Given the description of an element on the screen output the (x, y) to click on. 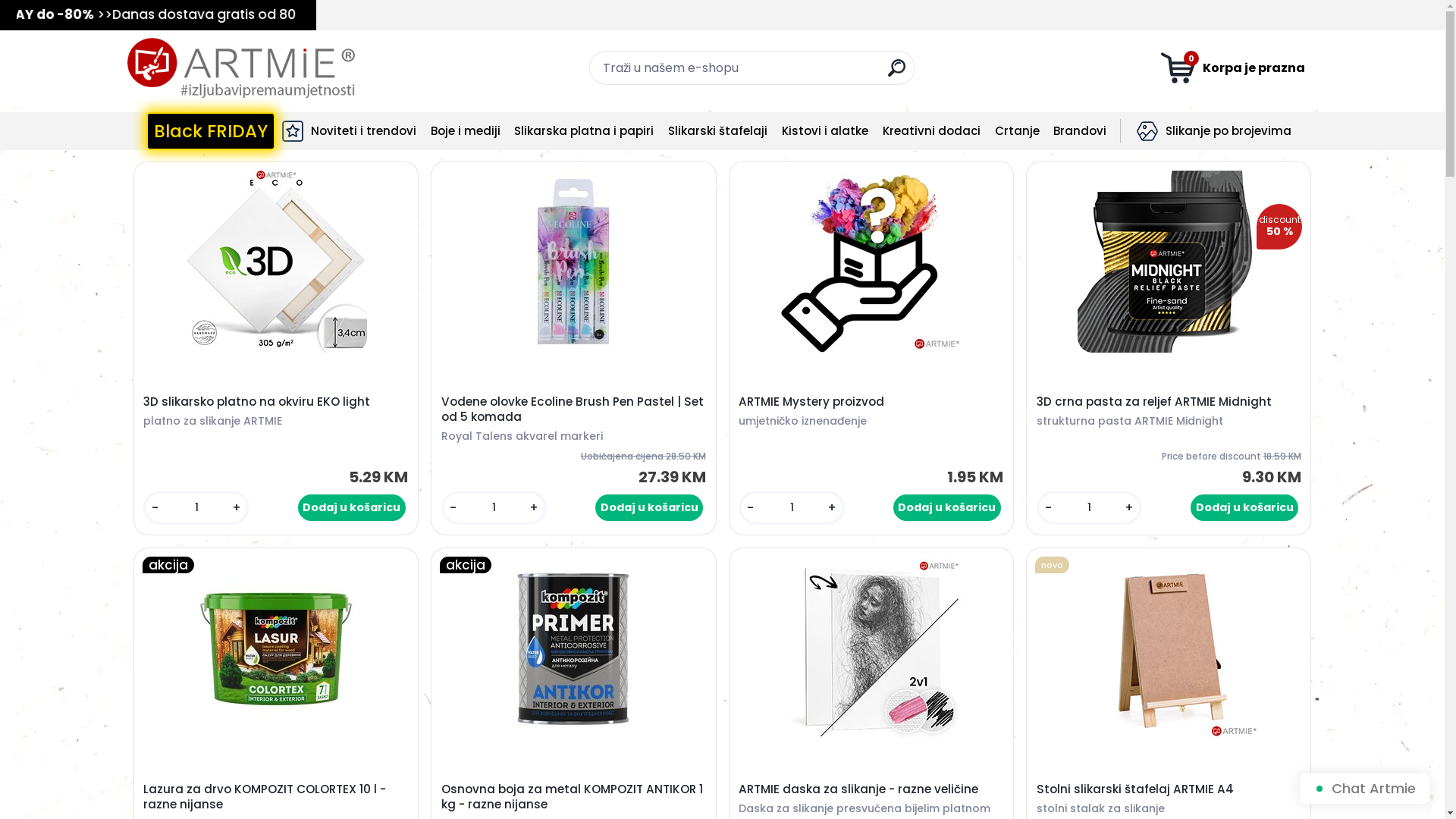
Kistovi i alatke Element type: text (825, 131)
Black FRIDAY Element type: text (209, 131)
New registration Element type: text (1382, 37)
Danas dostava gratis od 80 KM Element type: text (151, 14)
Slikarska platna i papiri Element type: text (584, 131)
Crtanje Element type: text (1016, 131)
Crtanje Element type: text (1016, 131)
Osnovna boja za metal KOMPOZIT ANTIKOR 1 kg - razne nijanse Element type: text (573, 796)
Lazura za drvo KOMPOZIT COLORTEX 10 l - razne nijanse Element type: hover (276, 649)
- Element type: text (749, 507)
Kistovi i alatke Element type: text (824, 131)
Kreativni dodaci Element type: text (931, 131)
Slikanje po brojevima Element type: text (1228, 131)
Boje i mediji Element type: text (465, 131)
+ Element type: text (1128, 507)
Kreativni dodaci Element type: text (931, 131)
Vodene olovke Ecoline Brush Pen Pastel | Set od 5 komada Element type: text (573, 409)
Noviteti i trendovi Element type: text (363, 131)
Lazura za drvo KOMPOZIT COLORTEX 10 l - razne nijanse Element type: text (275, 796)
Slikarska platna i papiri Element type: text (583, 131)
Brandovi Element type: text (1079, 131)
+ Element type: text (831, 507)
Slikanje po brojevima Element type: text (1214, 131)
3D crna pasta za reljef ARTMIE Midnight Element type: hover (1168, 261)
ARTMIE Mystery proizvod Element type: hover (871, 261)
0
Tvoja korpa
je prazna Element type: text (1233, 67)
+ Element type: text (236, 507)
Noviteti i trendovi Element type: text (348, 131)
Login Element type: text (1298, 37)
Boje i mediji Element type: text (465, 131)
3D crna pasta za reljef ARTMIE Midnight Element type: text (1168, 401)
3D slikarsko platno na okviru EKO light Element type: hover (276, 261)
3D slikarsko platno na okviru EKO light Element type: text (275, 401)
- Element type: text (1047, 507)
+ Element type: text (533, 507)
Osnovna boja za metal KOMPOZIT ANTIKOR 1 kg - razne nijanse Element type: hover (573, 649)
Brandovi Element type: text (1079, 131)
ARTMIE Mystery proizvod Element type: text (870, 401)
- Element type: text (154, 507)
- Element type: text (452, 507)
Vodene olovke Ecoline Brush Pen Pastel | Set od 5 komada Element type: hover (573, 261)
